Given the description of an element on the screen output the (x, y) to click on. 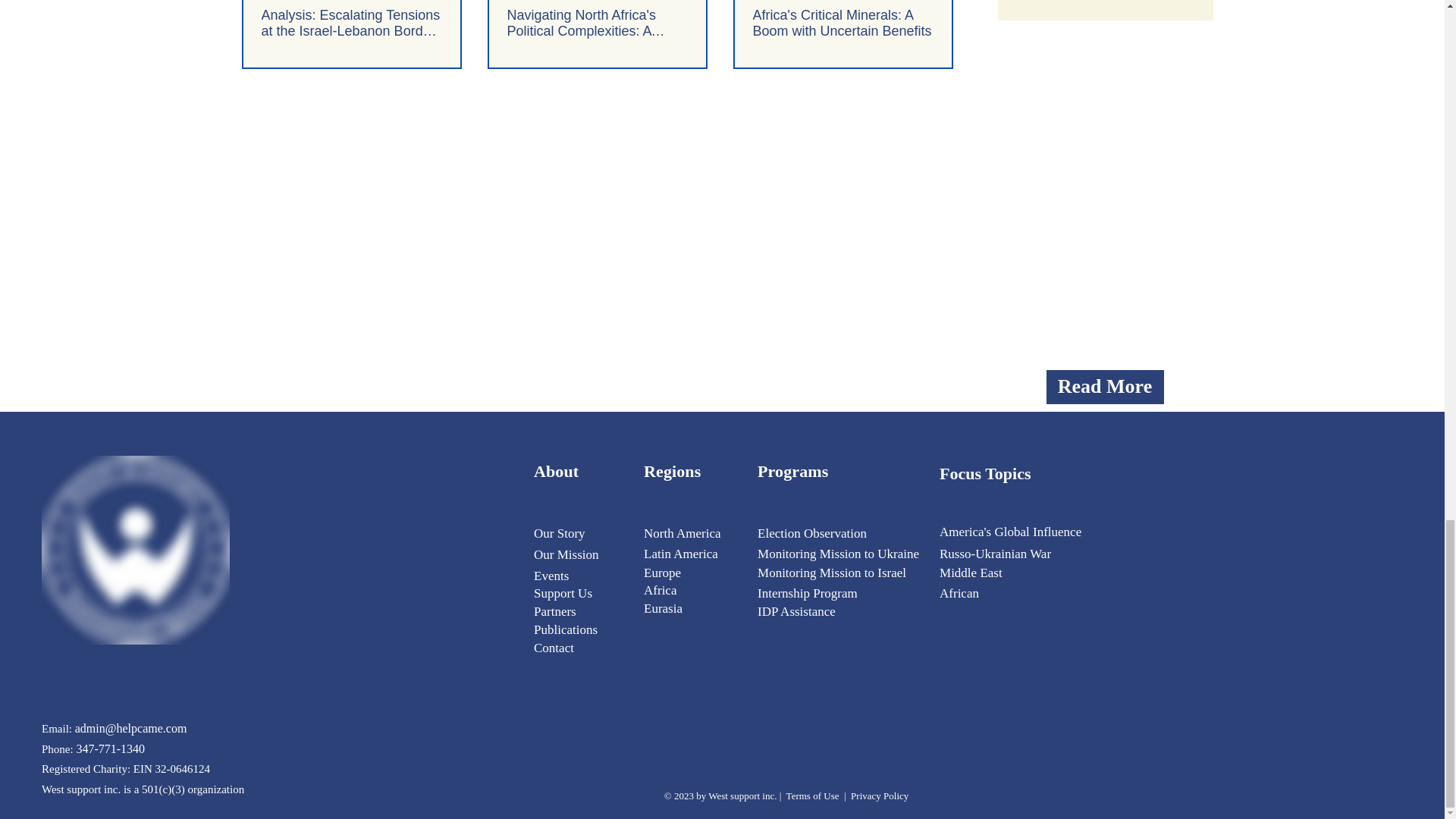
Latin America (680, 554)
Read More (1104, 387)
Regions (671, 470)
North America (681, 533)
Europe (662, 572)
Our Mission  (568, 553)
Events (551, 575)
Programs (792, 470)
Our Story (559, 533)
Africa's Critical Minerals: A Boom with Uncertain Benefits (842, 23)
Support Us (563, 593)
Partners (555, 611)
About (556, 470)
